Given the description of an element on the screen output the (x, y) to click on. 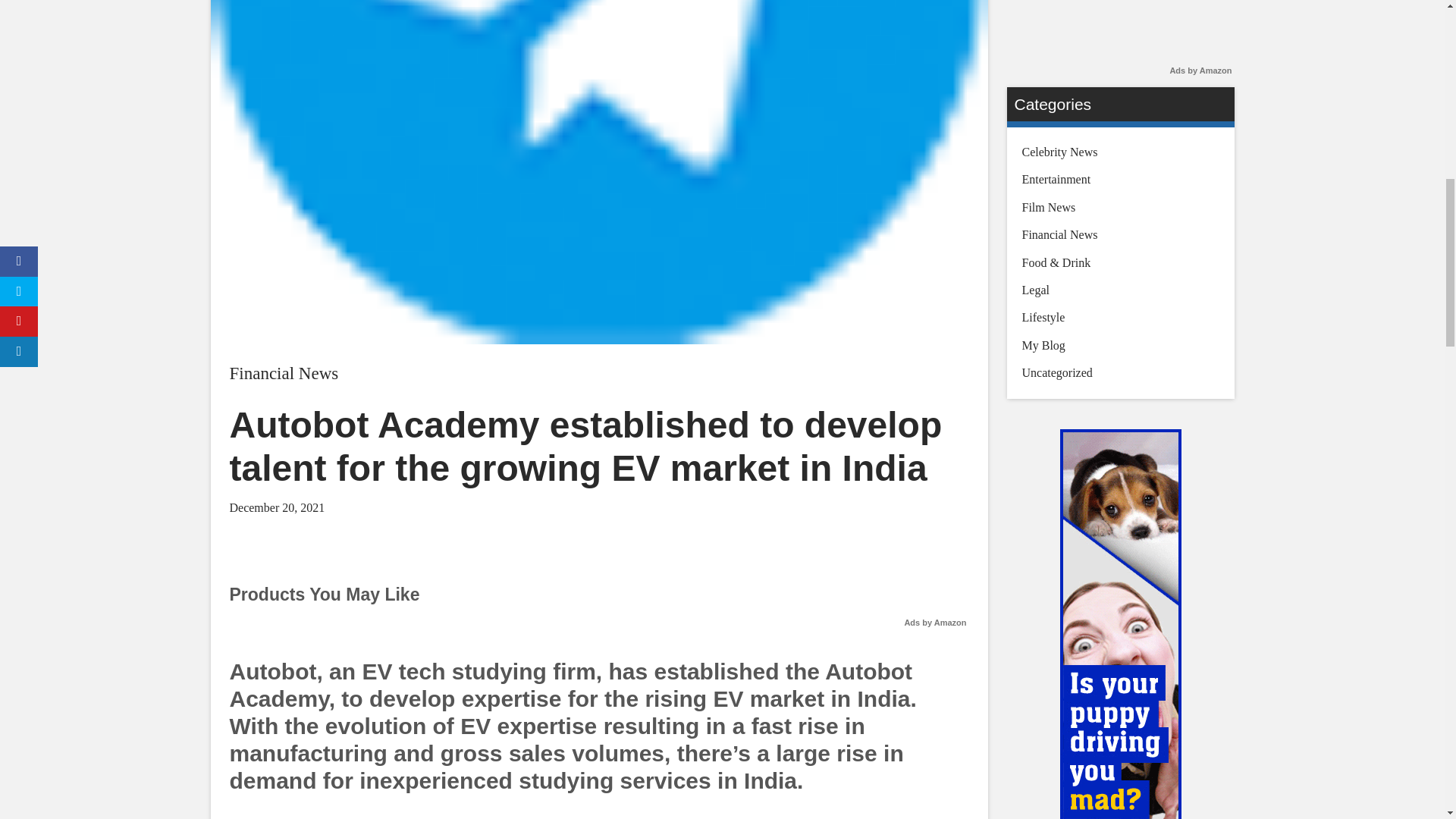
Financial News (282, 373)
Financial News (282, 373)
Ads by Amazon (935, 622)
